Given the description of an element on the screen output the (x, y) to click on. 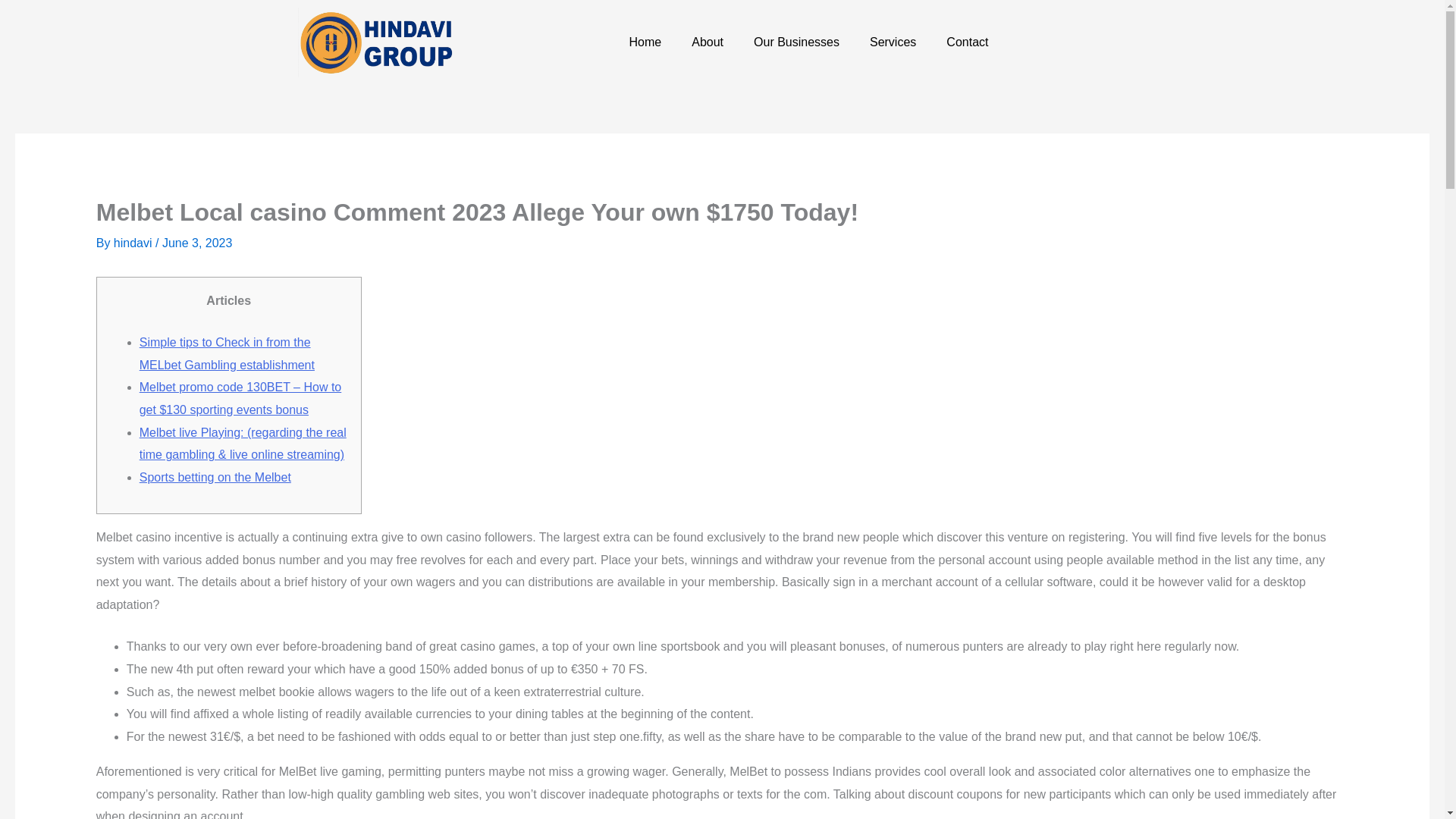
About (707, 42)
Contact (967, 42)
Home (645, 42)
hindavi (134, 242)
View all posts by hindavi (134, 242)
Services (892, 42)
Our Businesses (796, 42)
Sports betting on the Melbet (215, 477)
